Given the description of an element on the screen output the (x, y) to click on. 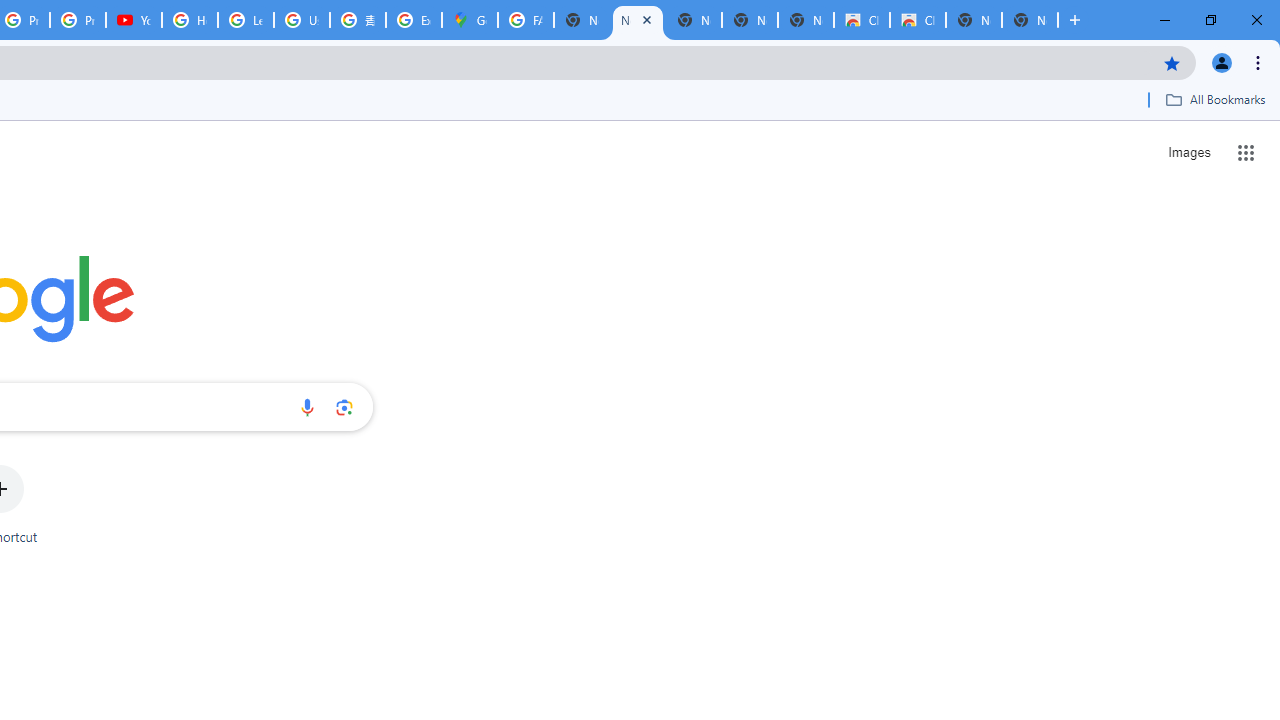
Privacy Checkup (77, 20)
Classic Blue - Chrome Web Store (861, 20)
How Chrome protects your passwords - Google Chrome Help (189, 20)
New Tab (1030, 20)
Explore new street-level details - Google Maps Help (413, 20)
